Given the description of an element on the screen output the (x, y) to click on. 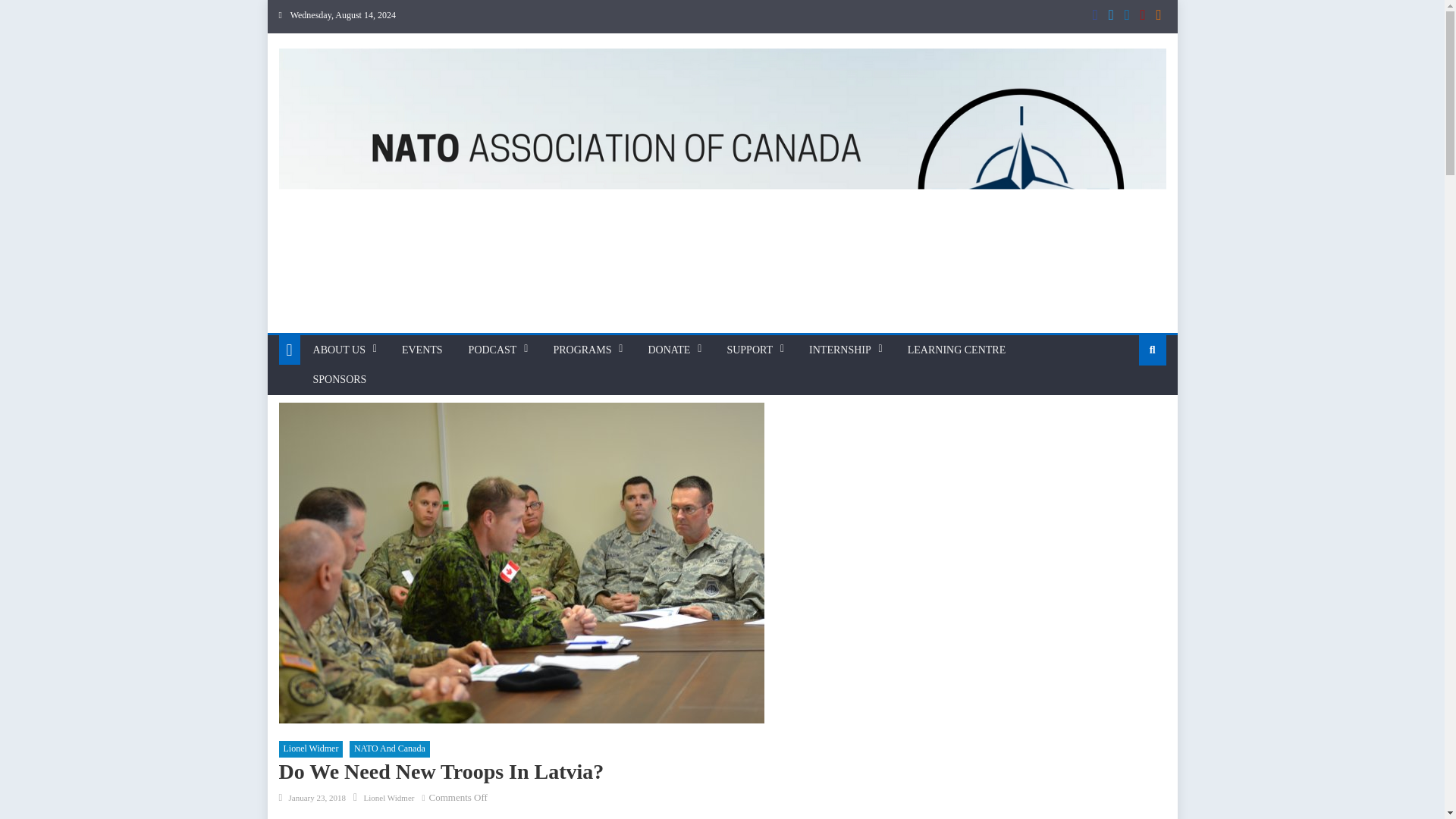
ABOUT US (339, 349)
EVENTS (422, 349)
DONATE (668, 349)
SUPPORT (749, 349)
PODCAST (492, 349)
PROGRAMS (582, 349)
